Given the description of an element on the screen output the (x, y) to click on. 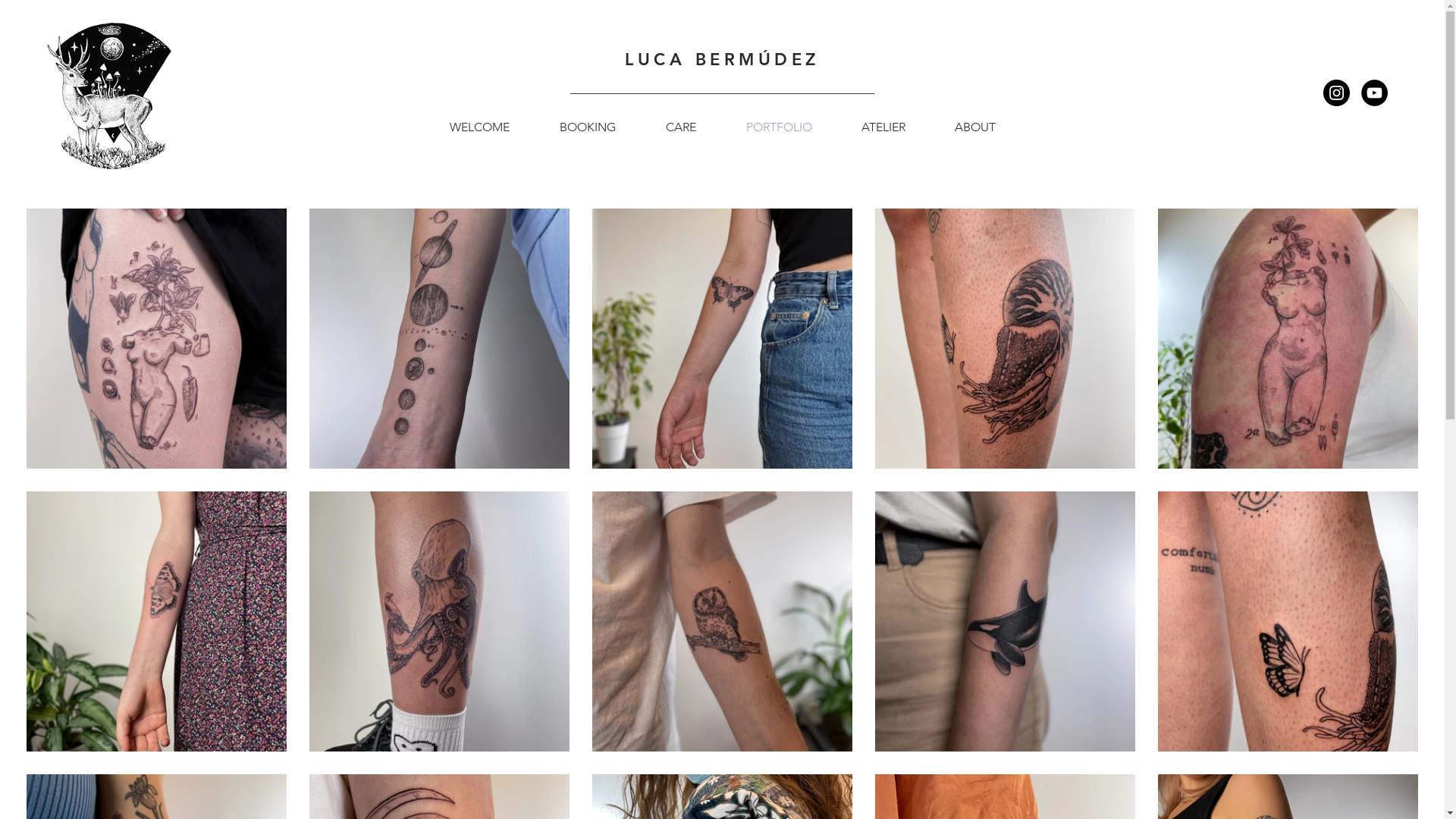
BOOKING Element type: text (586, 127)
WELCOME Element type: text (479, 127)
CARE Element type: text (680, 127)
ABOUT Element type: text (974, 127)
ATELIER Element type: text (883, 127)
PORTFOLIO Element type: text (778, 127)
